Given the description of an element on the screen output the (x, y) to click on. 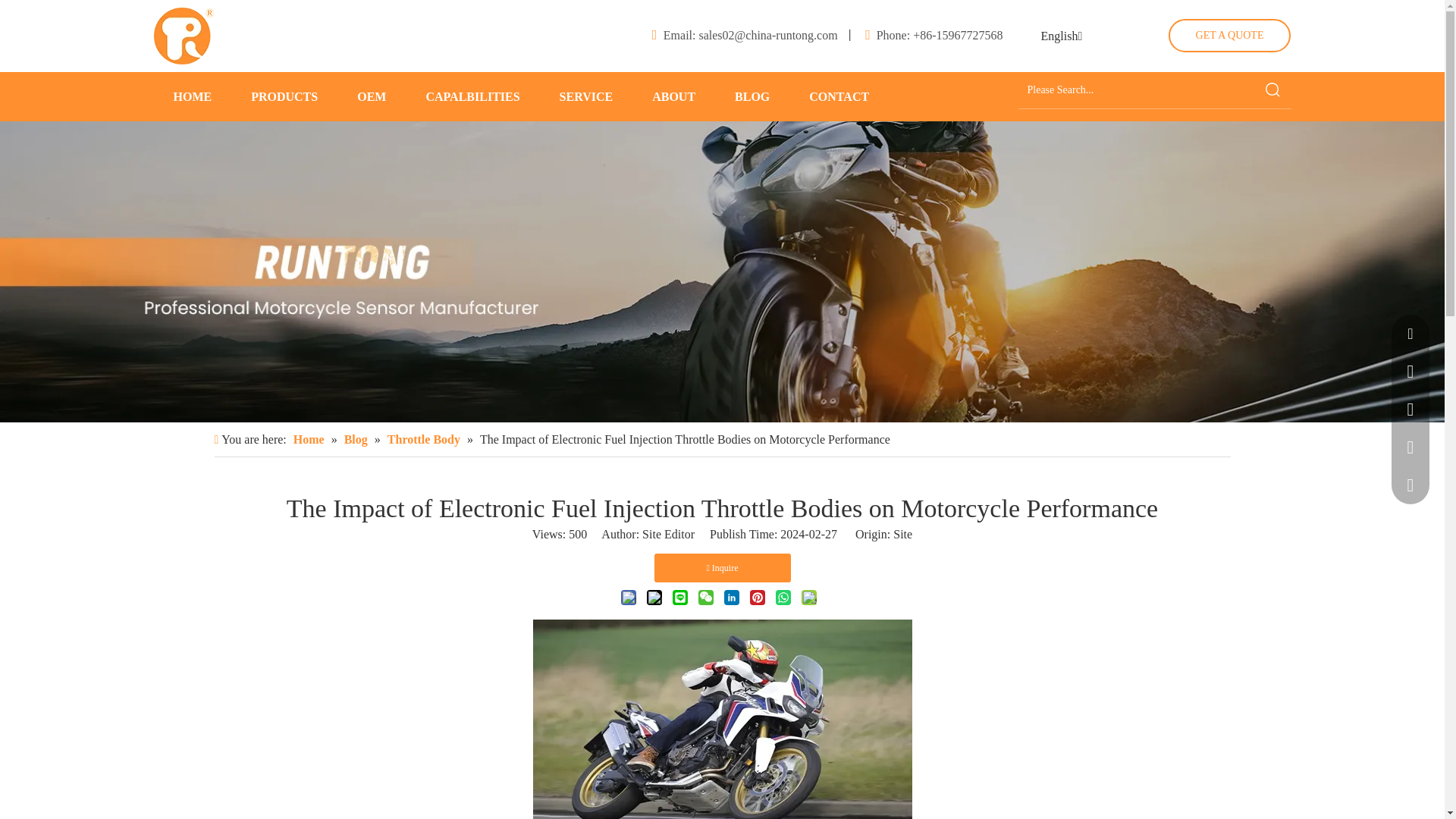
SERVICE (586, 96)
GET A QUOTE (1230, 35)
ABOUT (673, 96)
CAPALBILITIES (472, 96)
OEM (371, 96)
HOME (192, 96)
PRODUCTS (284, 96)
